Given the description of an element on the screen output the (x, y) to click on. 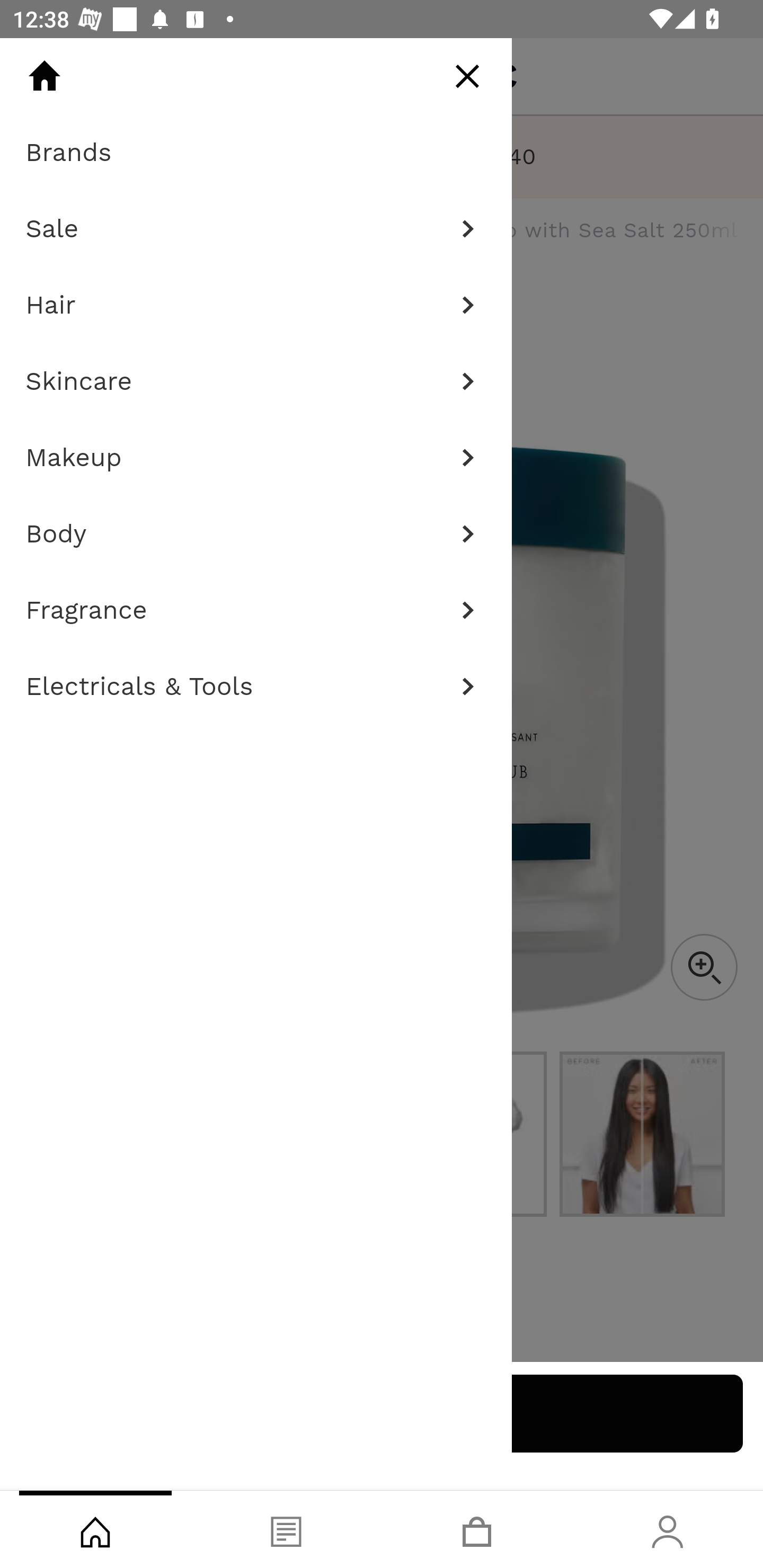
Home (44, 75)
Close Menu (467, 75)
Brands (255, 152)
Sale (255, 228)
Hair (255, 304)
Skincare (255, 381)
Makeup (255, 457)
Body (255, 533)
Fragrance (255, 610)
Electricals & Tools (255, 686)
Shop, tab, 1 of 4 (95, 1529)
Blog, tab, 2 of 4 (285, 1529)
Basket, tab, 3 of 4 (476, 1529)
Account, tab, 4 of 4 (667, 1529)
